Given the description of an element on the screen output the (x, y) to click on. 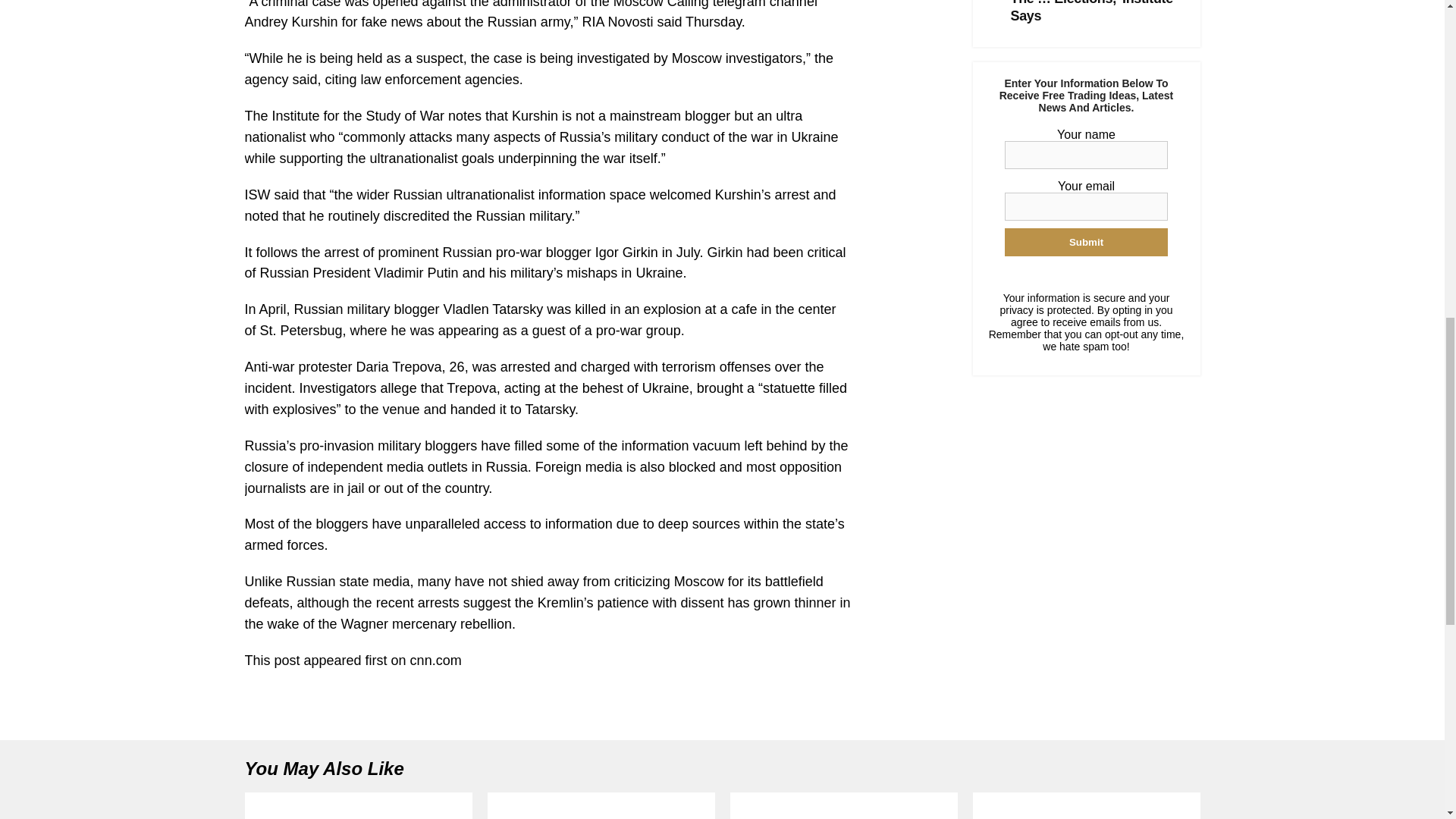
Submit (1085, 242)
